Given the description of an element on the screen output the (x, y) to click on. 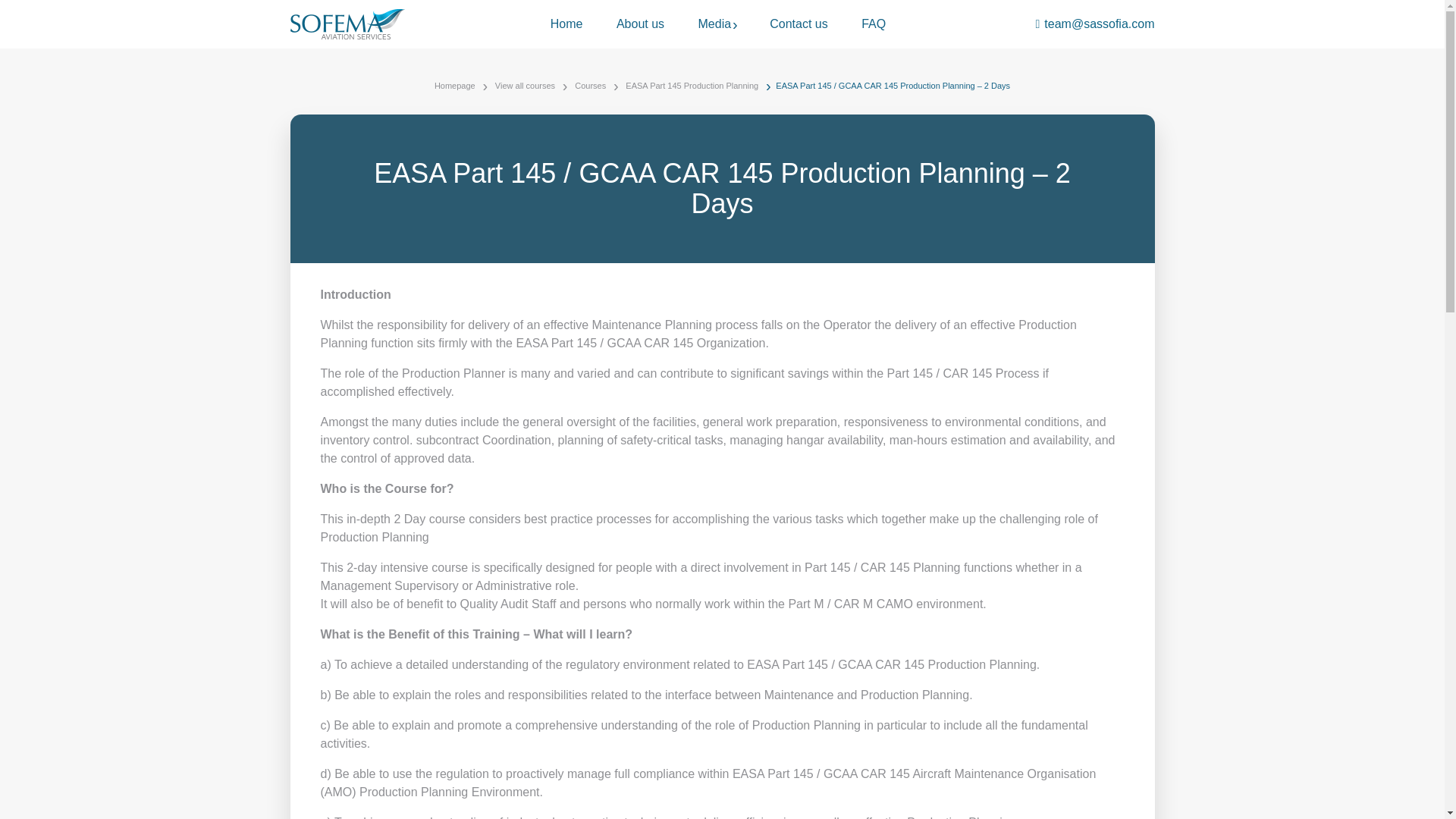
Contact us (798, 24)
Courses (590, 85)
About us (639, 24)
Homepage (454, 85)
EASA Part 145 Production Planning (692, 85)
View all courses (524, 85)
